Given the description of an element on the screen output the (x, y) to click on. 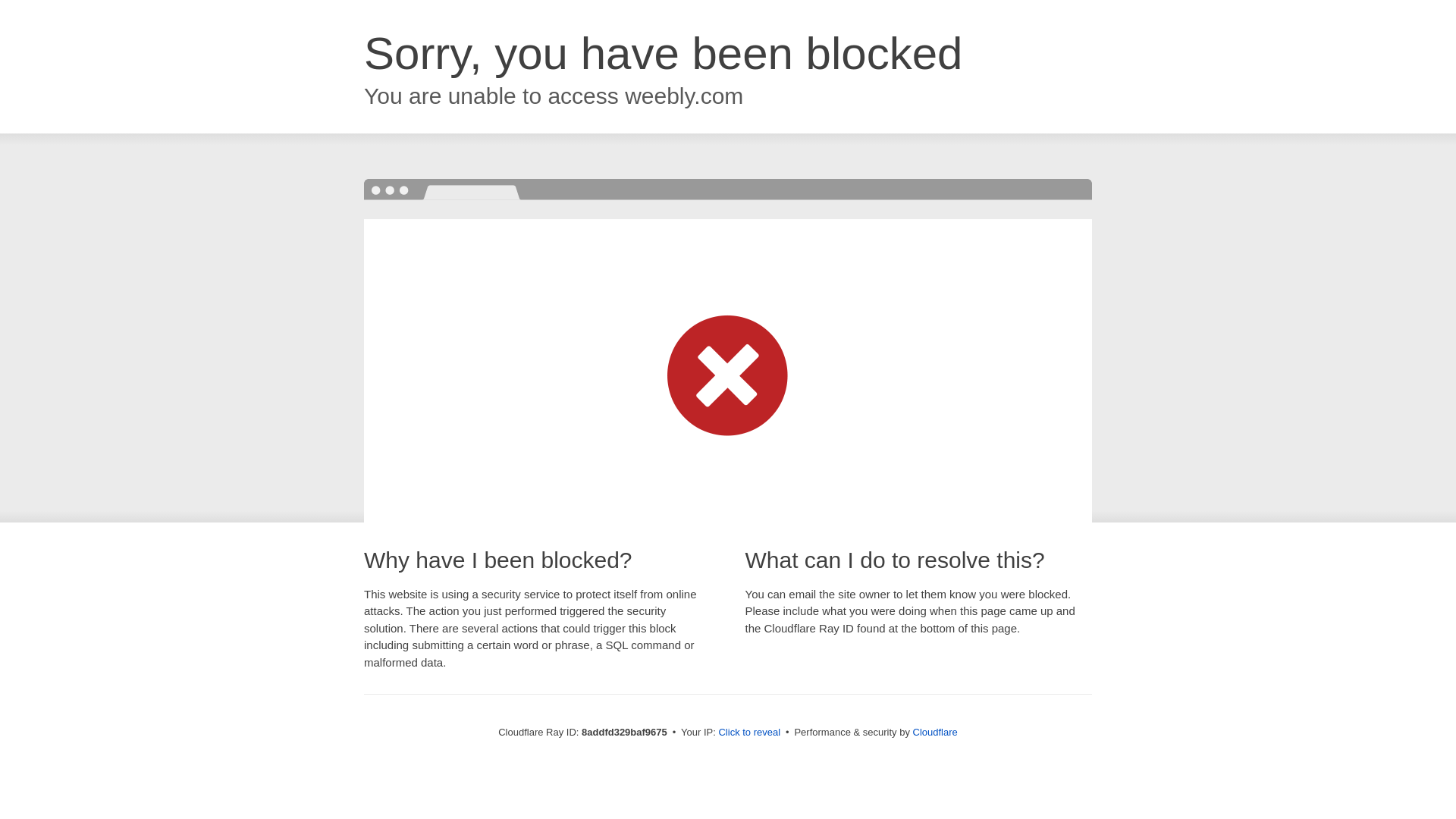
Cloudflare (935, 731)
Click to reveal (748, 732)
